Given the description of an element on the screen output the (x, y) to click on. 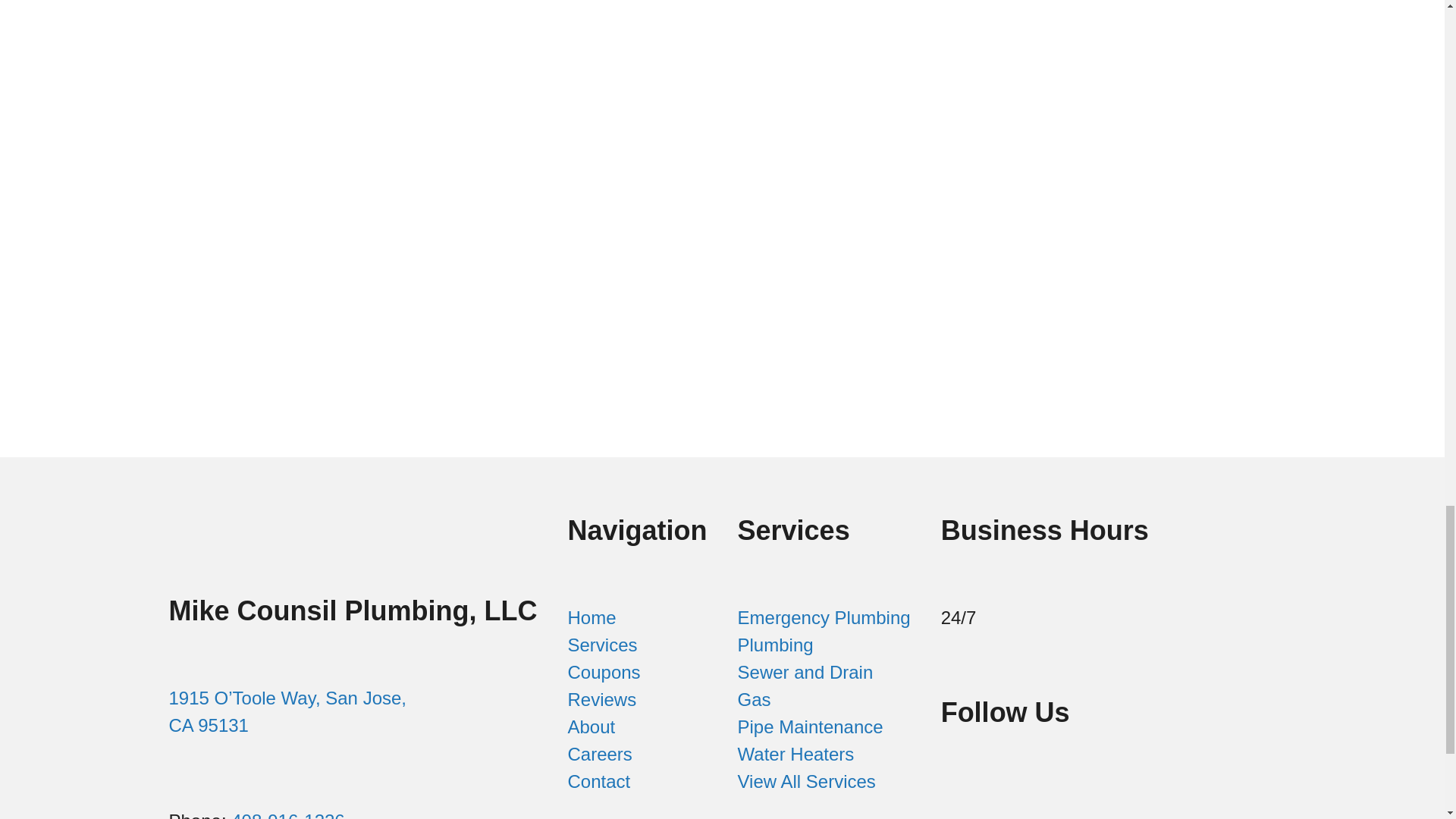
logo (282, 512)
